Given the description of an element on the screen output the (x, y) to click on. 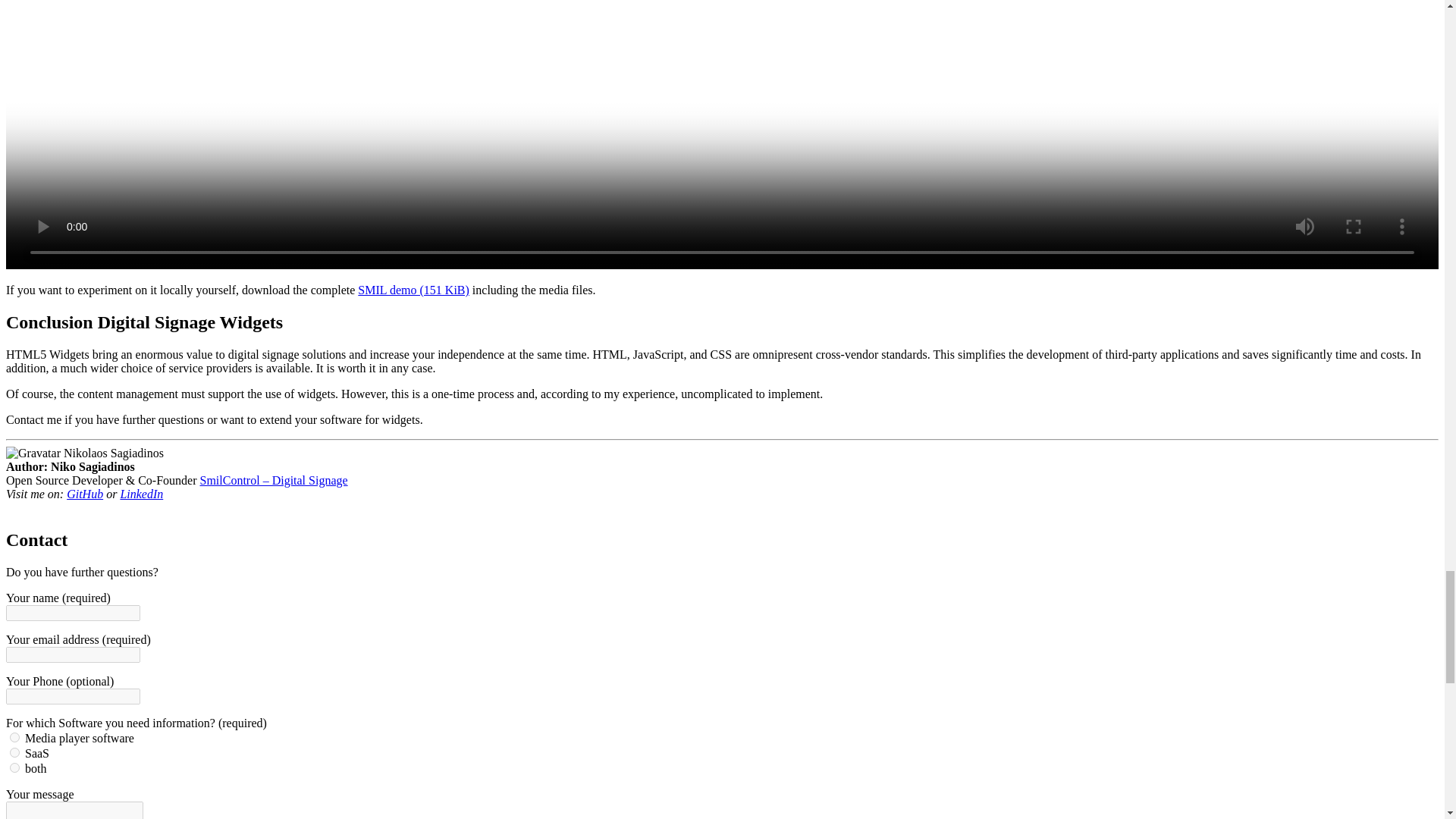
both (15, 767)
player (15, 737)
saas (15, 752)
Visit me on LinkedIn (141, 493)
Visit me on Github (84, 493)
